Given the description of an element on the screen output the (x, y) to click on. 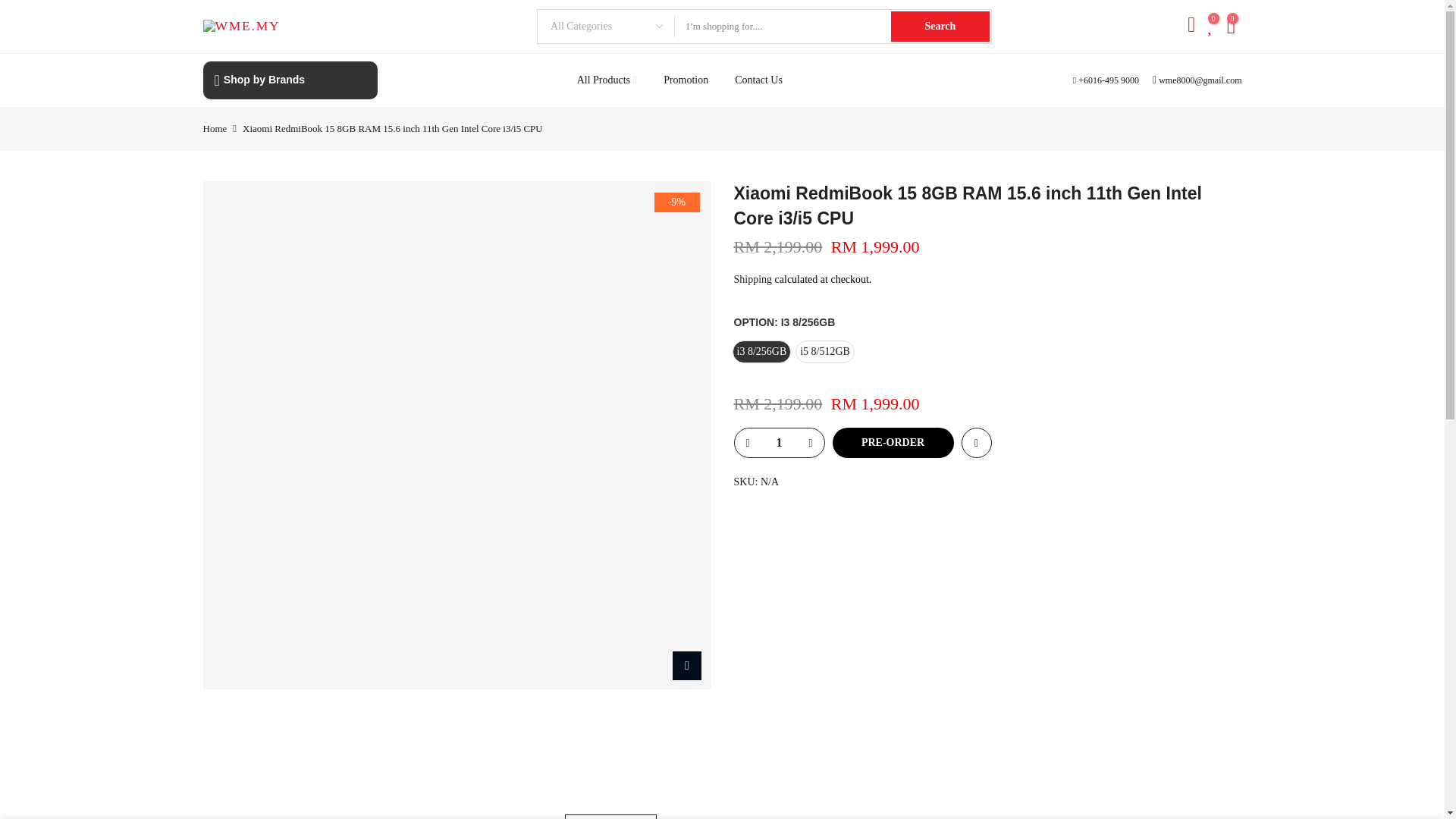
1 (778, 442)
Search (940, 26)
All Products (606, 80)
